Given the description of an element on the screen output the (x, y) to click on. 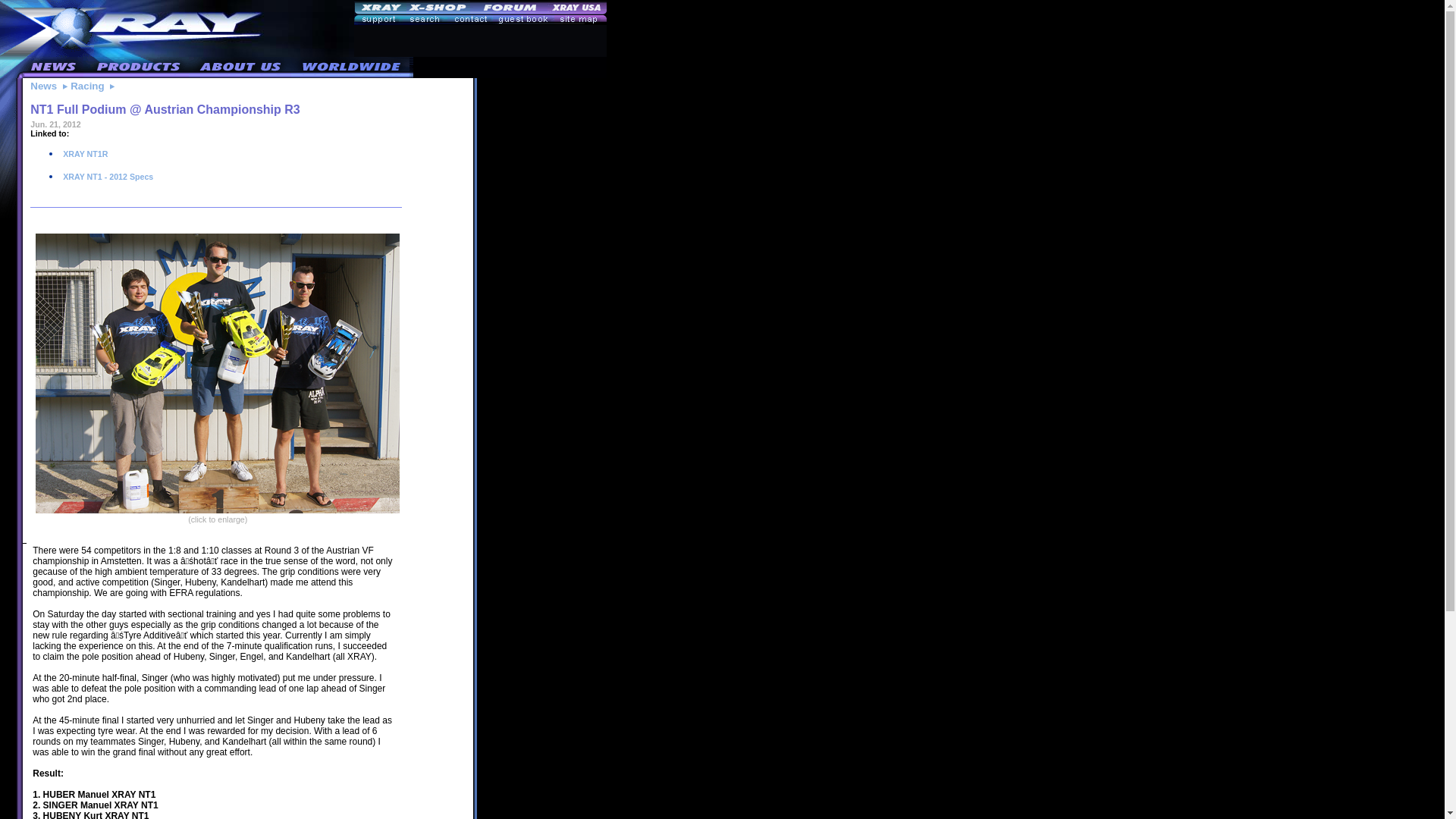
Racing (86, 85)
 XRAY NT1R (84, 153)
 XRAY NT1 - 2012 Specs (106, 175)
News (43, 85)
